Given the description of an element on the screen output the (x, y) to click on. 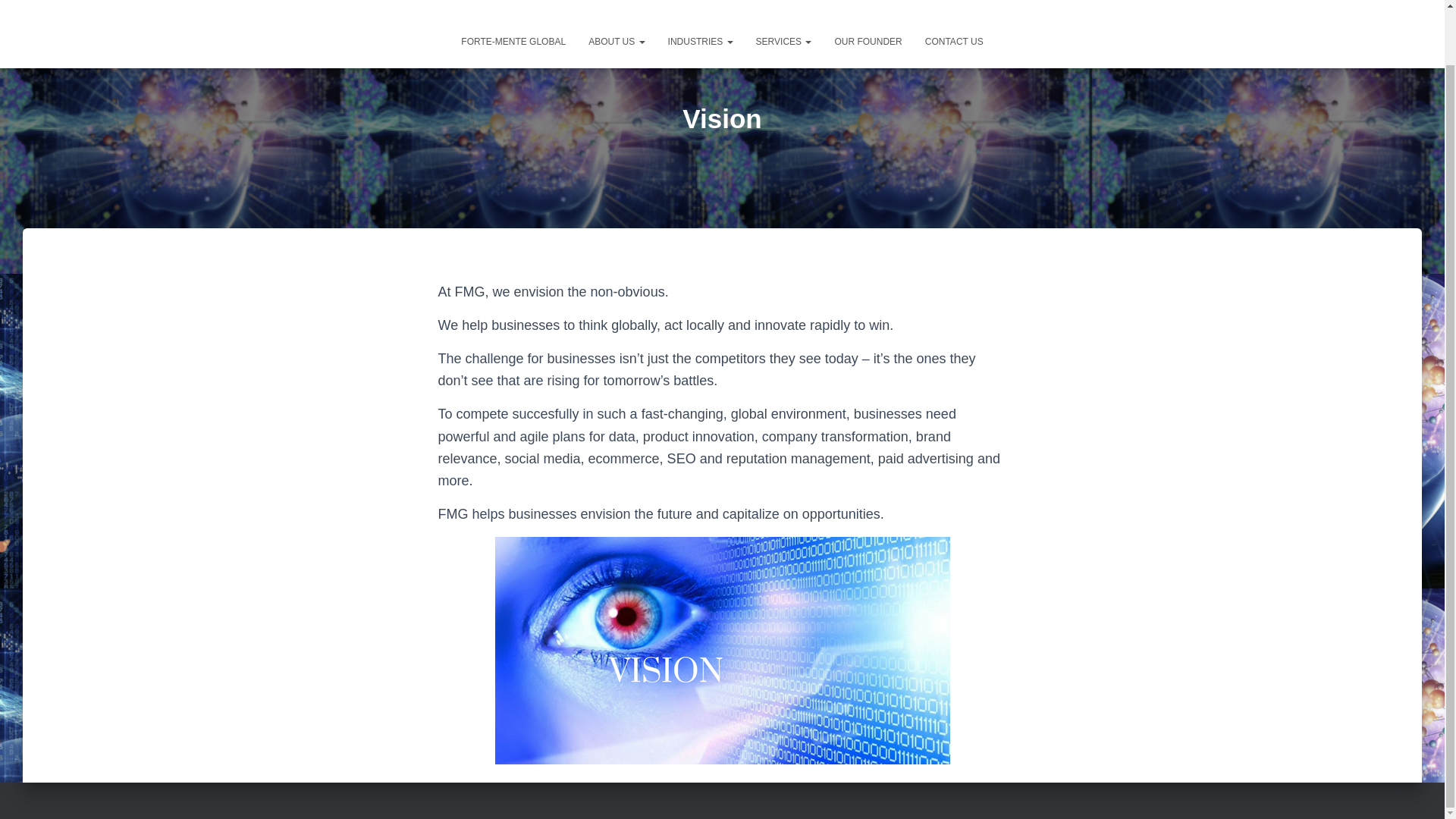
CONTACT US (954, 0)
INDUSTRIES (700, 0)
About Us (616, 0)
Forte-Mente Global (512, 0)
Industries (700, 0)
SERVICES (784, 0)
ABOUT US (616, 0)
Services (784, 0)
FORTE-MENTE GLOBAL (512, 0)
OUR FOUNDER (867, 0)
